Given the description of an element on the screen output the (x, y) to click on. 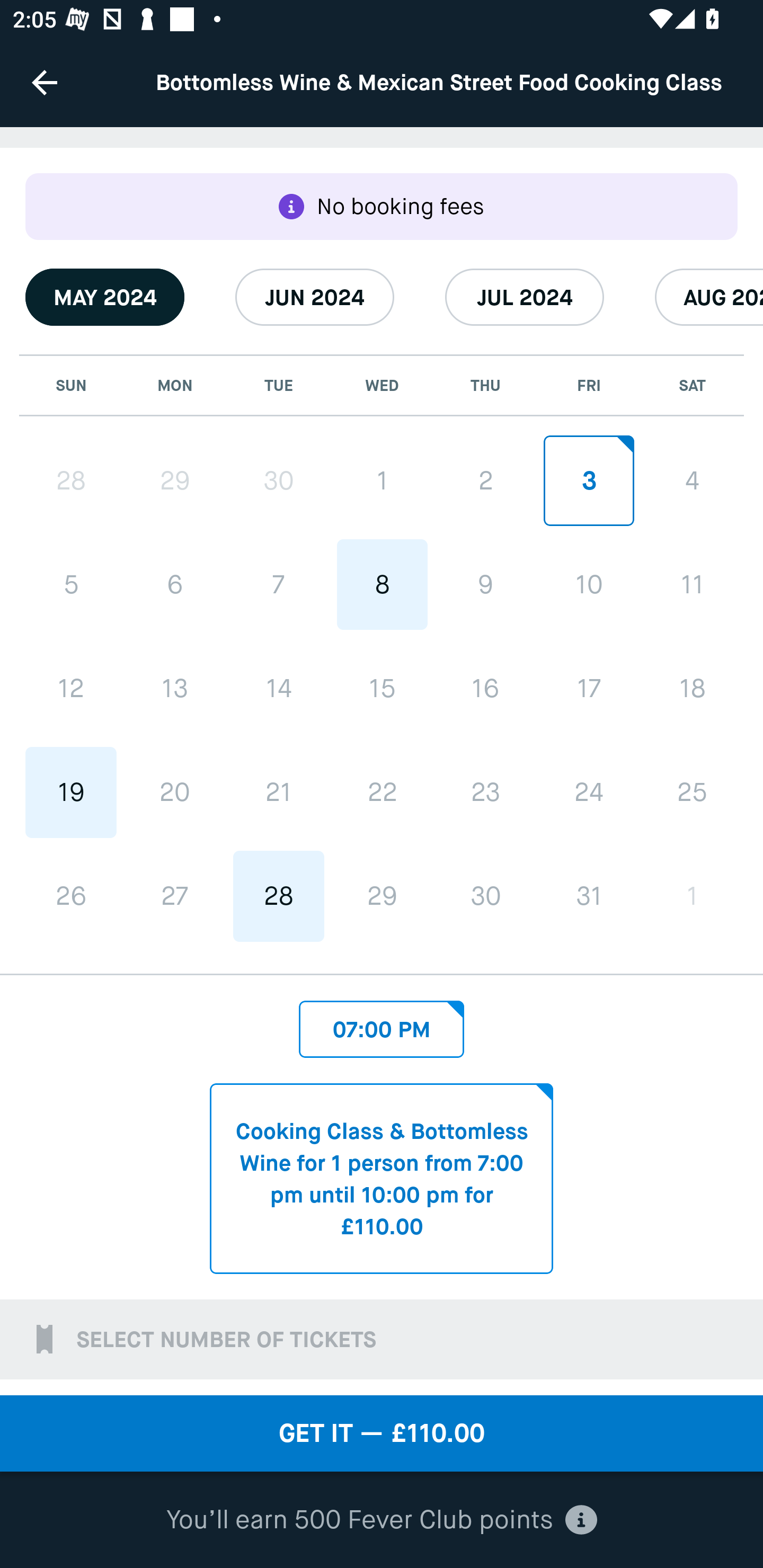
Navigate up (44, 82)
MAY 2024 (104, 296)
JUN 2024 (314, 296)
JUL 2024 (524, 296)
AUG 2024 (708, 296)
28 (70, 480)
29 (174, 480)
30 (278, 480)
1 (382, 480)
2 (485, 480)
3 (588, 480)
4 (692, 480)
5 (70, 584)
6 (174, 584)
7 (278, 584)
8 (382, 584)
9 (485, 584)
10 (588, 584)
11 (692, 584)
12 (70, 687)
13 (174, 687)
14 (278, 687)
15 (382, 687)
16 (485, 687)
17 (588, 687)
18 (692, 687)
19 (70, 791)
20 (174, 791)
21 (278, 791)
22 (382, 791)
23 (485, 791)
24 (588, 791)
25 (692, 791)
26 (70, 896)
27 (174, 896)
28 (278, 896)
29 (382, 895)
30 (485, 895)
31 (588, 895)
1 (692, 895)
07:00 PM (381, 1024)
GET IT — £110.00 (381, 1433)
You’ll earn 500 Fever Club points (381, 1519)
